Given the description of an element on the screen output the (x, y) to click on. 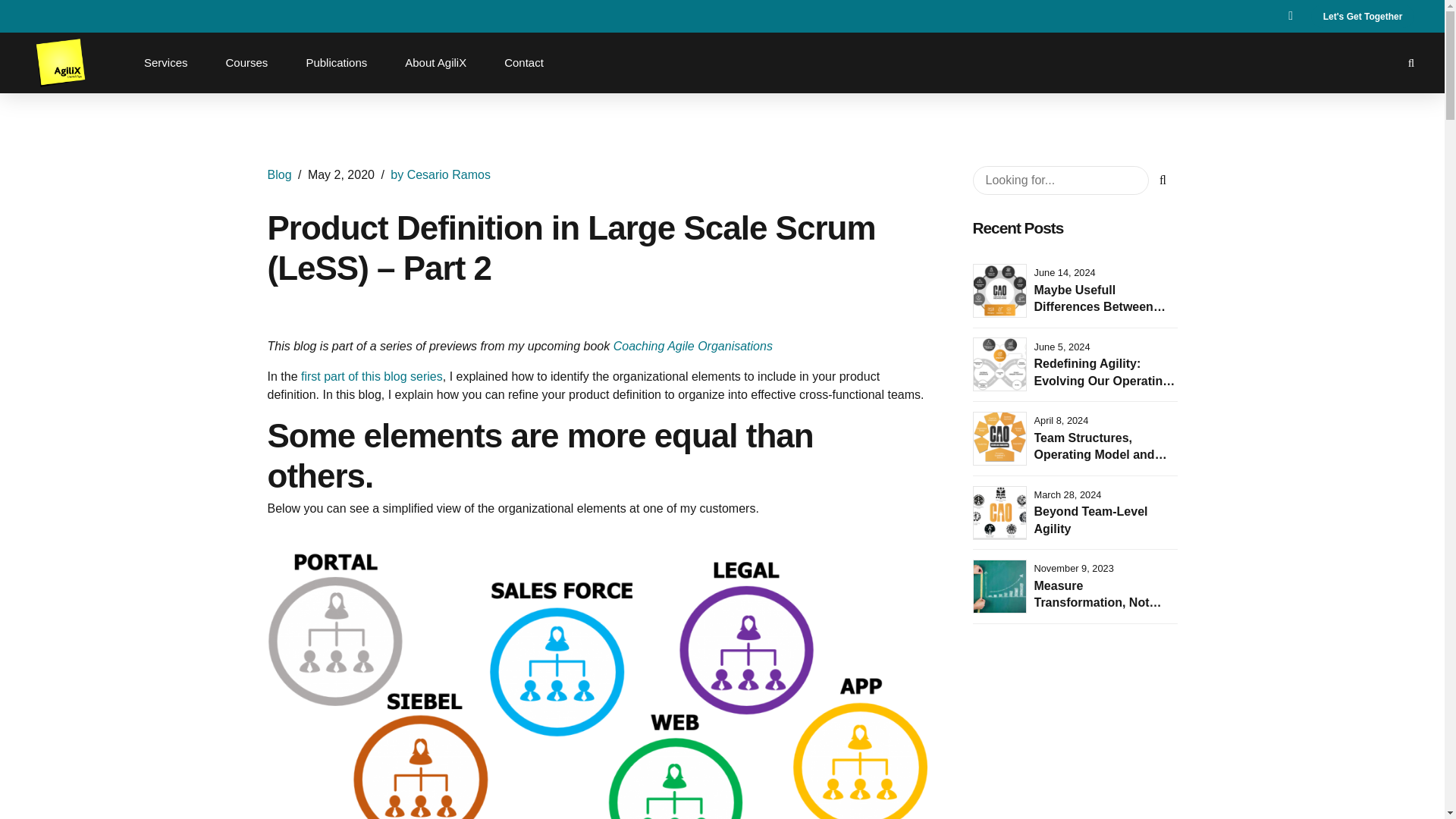
Blog (278, 174)
About AgiliX (435, 62)
Coaching Agile Organisations (692, 345)
Publications (335, 62)
Measure Transformation, Not Conformation (1097, 602)
Beyond Team-Level Agility (1090, 519)
first part of this blog series (371, 376)
Services (166, 62)
Courses (247, 62)
by Cesario Ramos (440, 174)
Contact (524, 62)
Let's Get Together (1362, 15)
Maybe Usefull Differences Between CAO and SAFe To Understand (1099, 315)
